Given the description of an element on the screen output the (x, y) to click on. 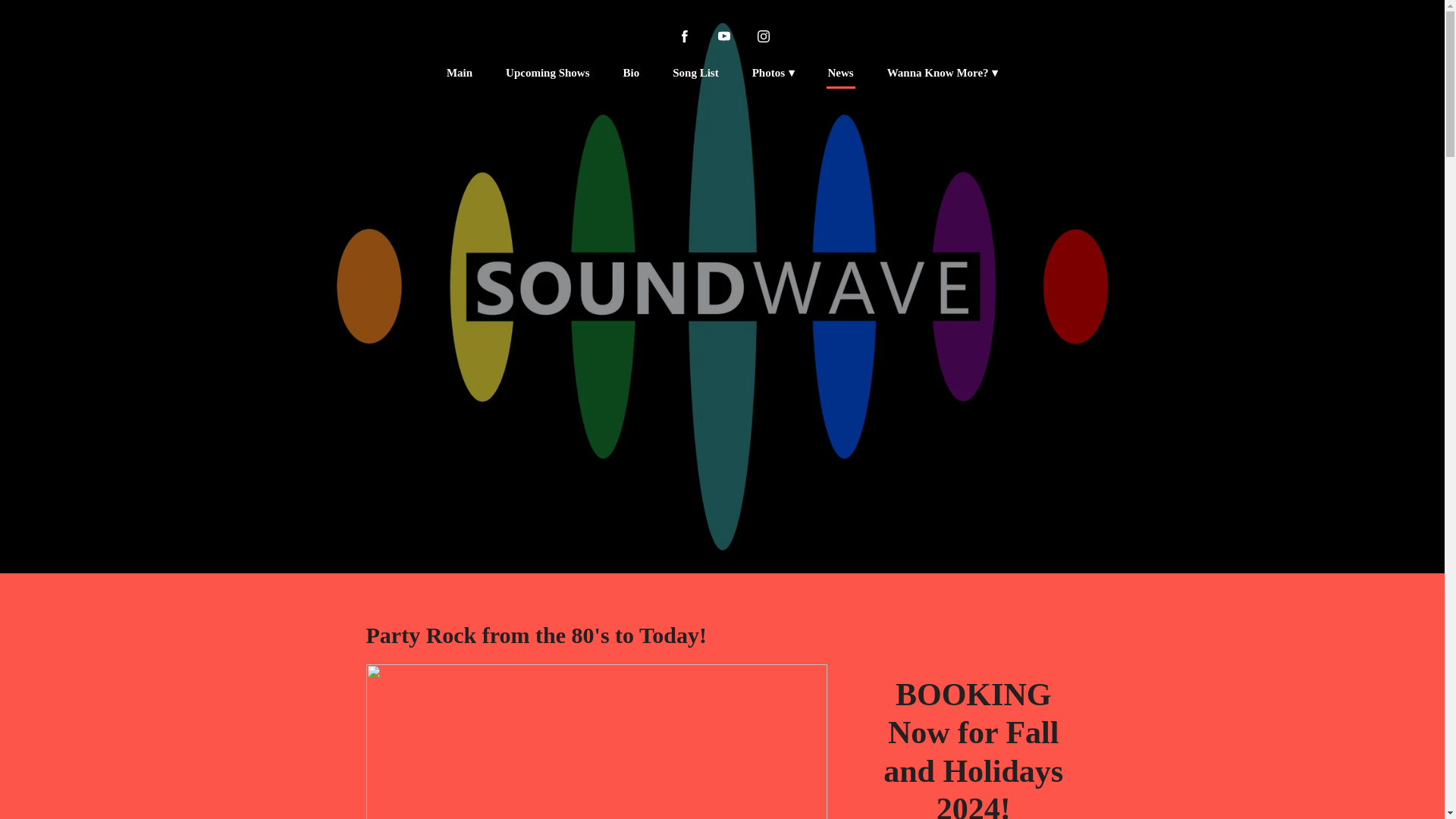
Main (459, 73)
Upcoming Shows (547, 73)
Photos (773, 73)
News (841, 74)
Wanna Know More? (941, 73)
Song List (695, 73)
